Given the description of an element on the screen output the (x, y) to click on. 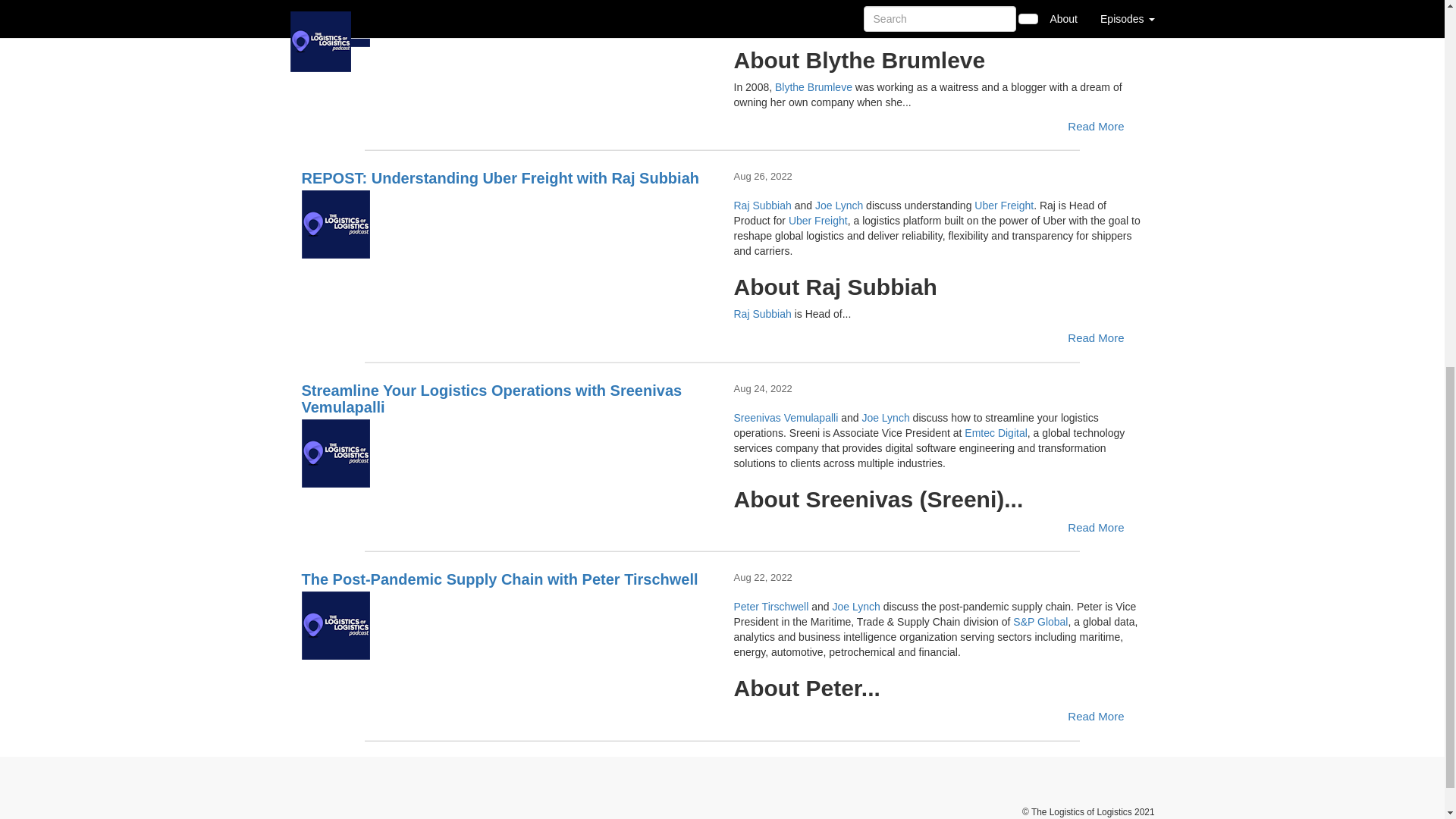
REPOST: Understanding Uber Freight with Raj Subbiah (506, 224)
The Post-Pandemic Supply Chain with Peter Tirschwell (506, 625)
Connecting The Digital Dots with Blythe Brumleve (506, 23)
